Given the description of an element on the screen output the (x, y) to click on. 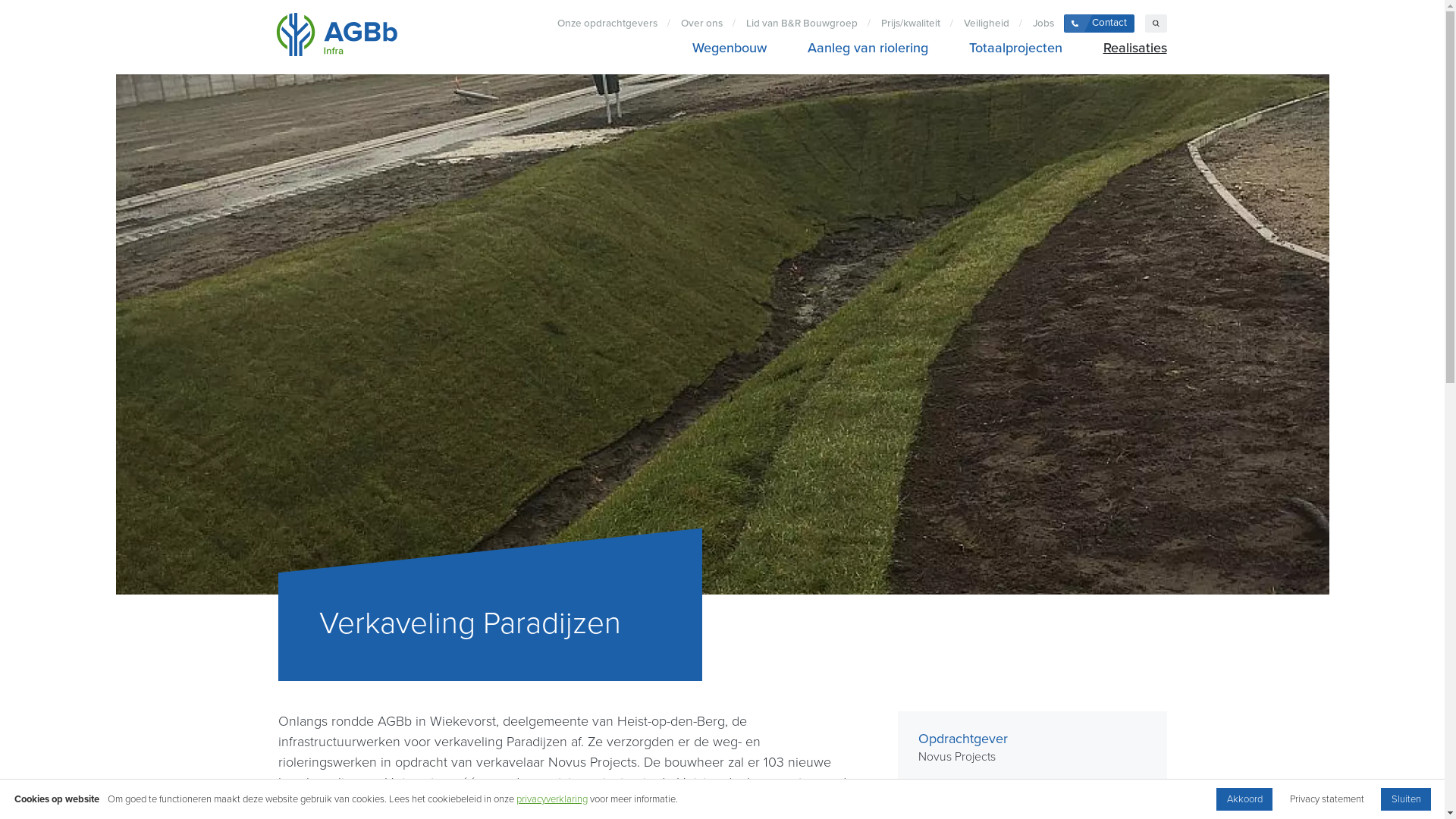
Prijs/kwaliteit Element type: text (910, 23)
AGBb Element type: hover (336, 37)
Aanleg van riolering Element type: text (867, 47)
Privacy statement Element type: text (1326, 798)
Akkoord Element type: text (1244, 798)
Realisaties Element type: text (1129, 47)
Contact Element type: text (1098, 23)
Onze opdrachtgevers Element type: text (606, 23)
Lid van B&R Bouwgroep Element type: text (801, 23)
Sluiten Element type: text (1405, 798)
Totaalprojecten Element type: text (1015, 47)
privacyverklaring Element type: text (551, 799)
Over ons Element type: text (701, 23)
Veiligheid Element type: text (986, 23)
Jobs Element type: text (1043, 23)
Wegenbouw Element type: text (728, 47)
